Given the description of an element on the screen output the (x, y) to click on. 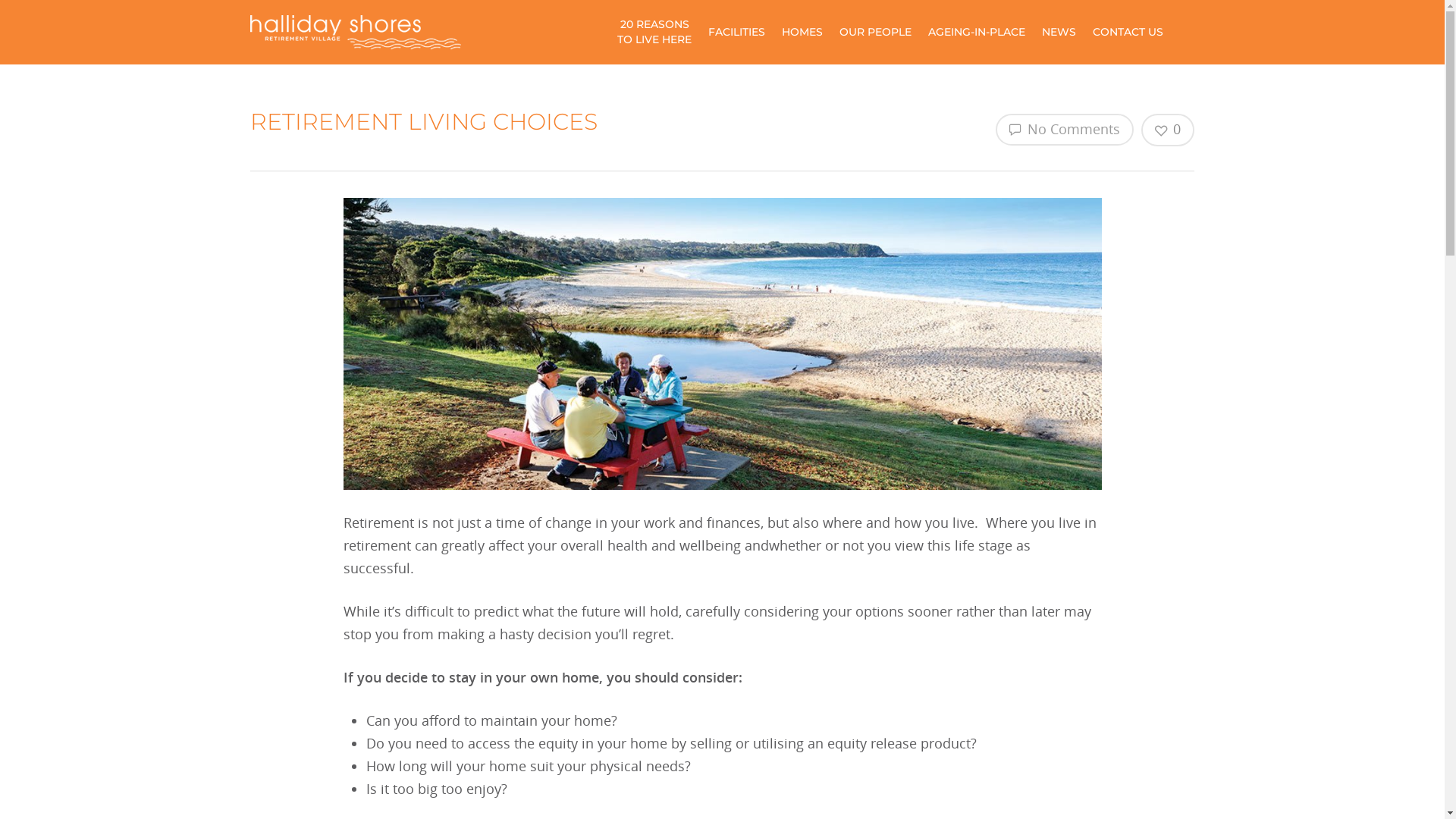
20 REASONS
TO LIVE HERE Element type: text (654, 32)
FACILITIES Element type: text (736, 32)
HOMES Element type: text (802, 32)
0 Element type: text (1167, 129)
No Comments Element type: text (1064, 129)
OUR PEOPLE Element type: text (875, 32)
NEWS Element type: text (1058, 32)
CONTACT US Element type: text (1127, 32)
AGEING-IN-PLACE Element type: text (976, 32)
